Given the description of an element on the screen output the (x, y) to click on. 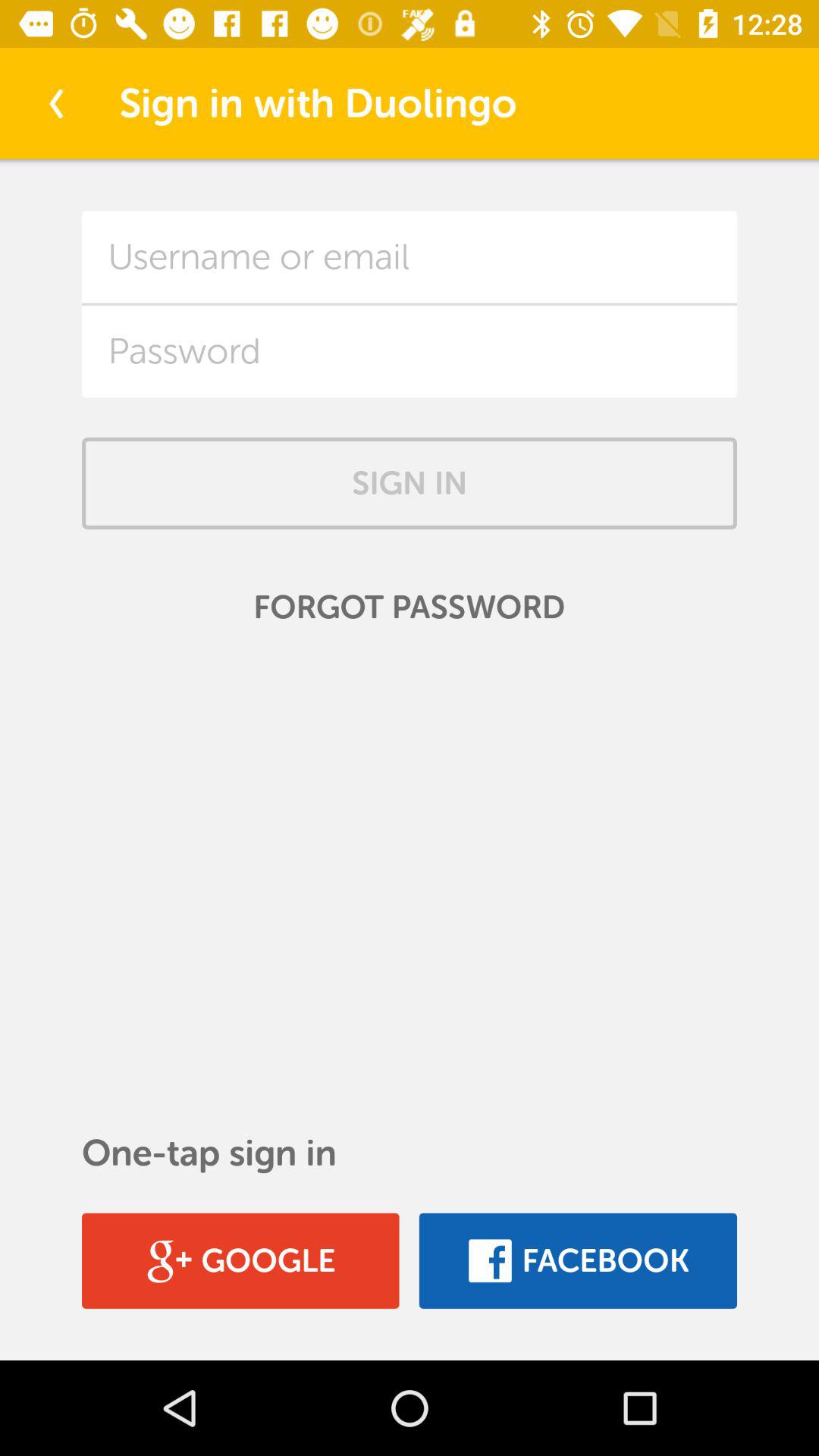
enter password (409, 351)
